Given the description of an element on the screen output the (x, y) to click on. 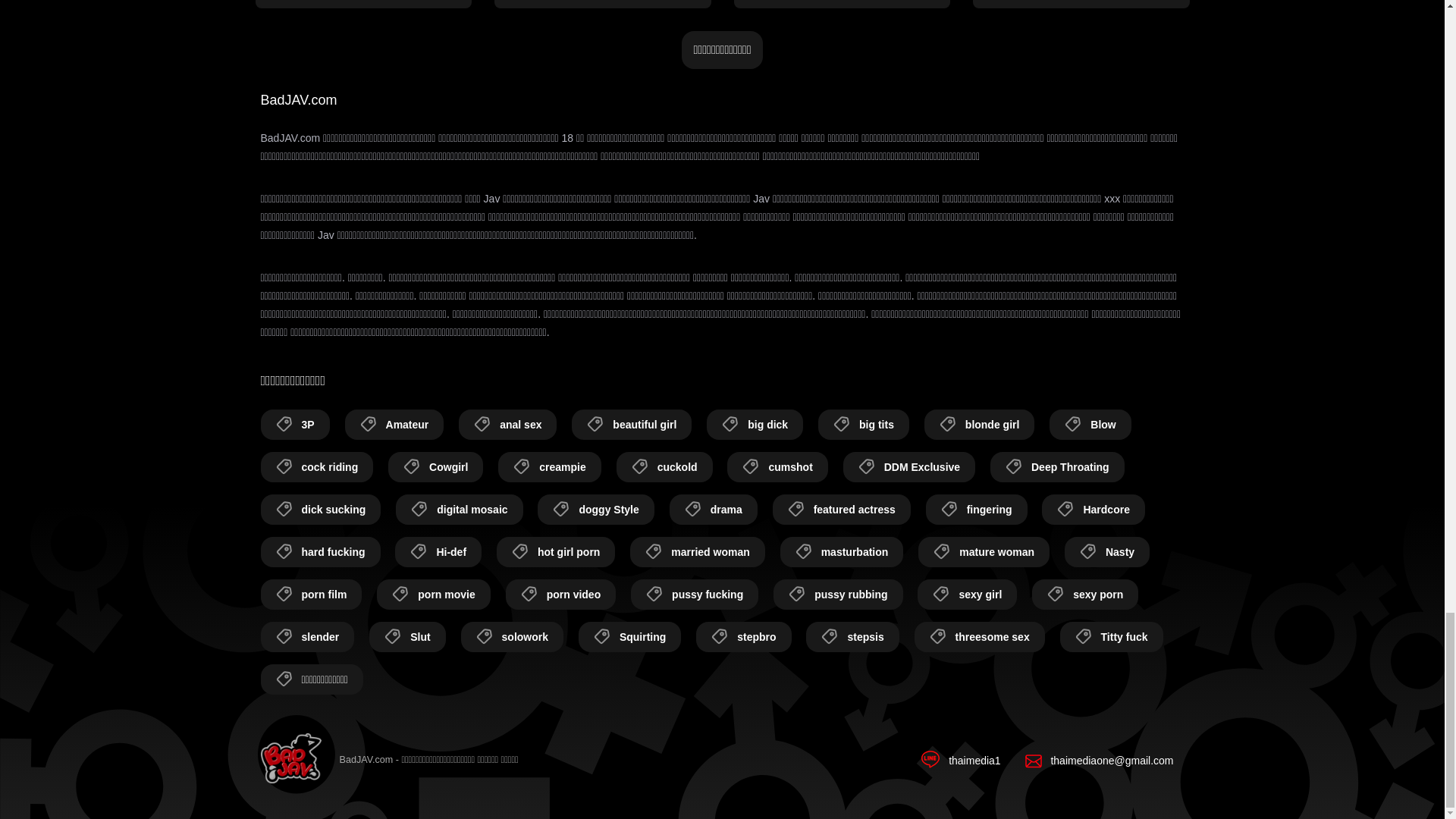
3P (295, 424)
big dick (754, 424)
big tits (863, 424)
beautiful girl (631, 424)
Amateur (394, 424)
Blow (1090, 424)
Badjav.com (290, 759)
anal sex (507, 424)
blonde girl (979, 424)
Cowgirl (435, 467)
